Given the description of an element on the screen output the (x, y) to click on. 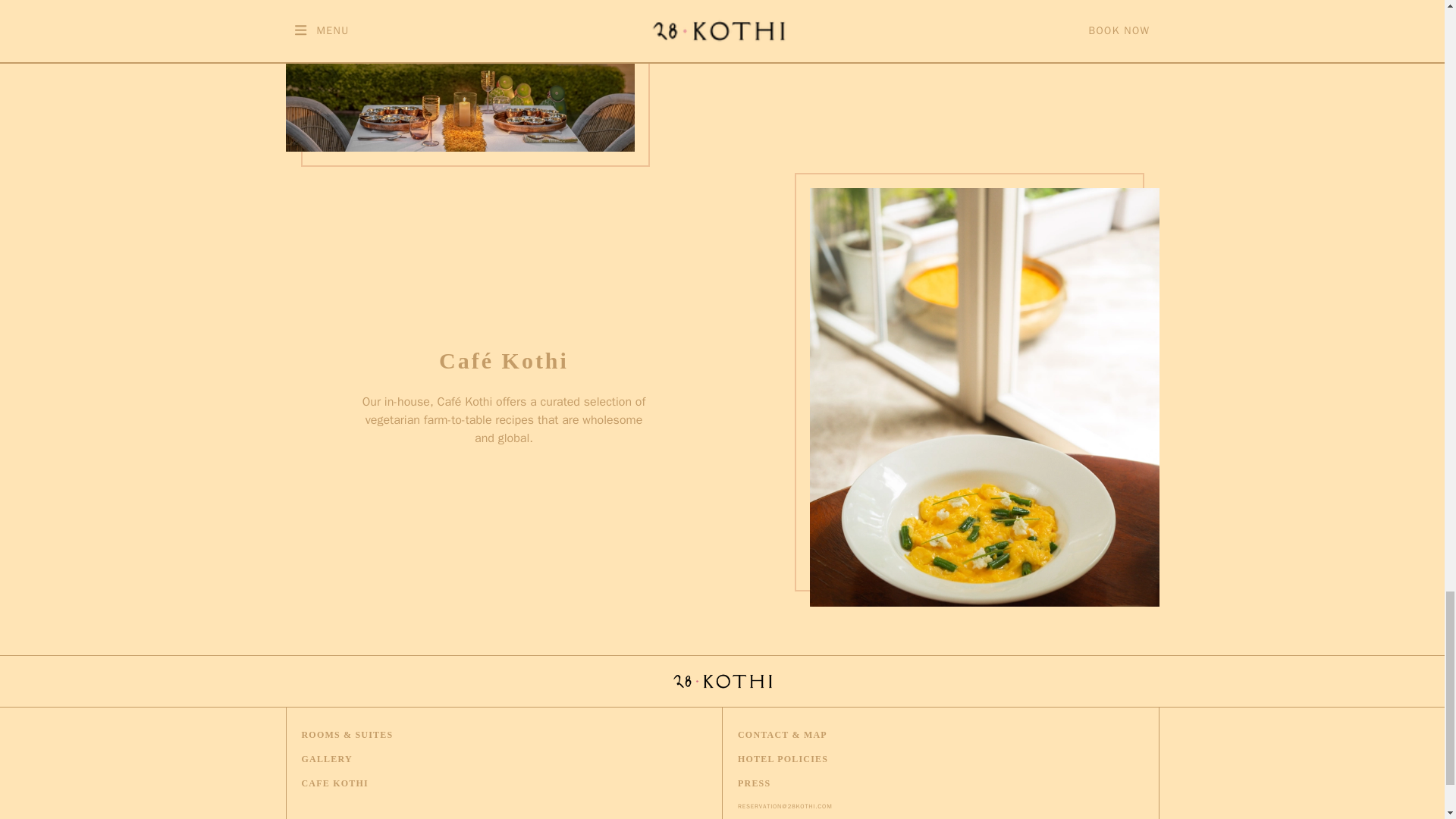
GALLERY (326, 758)
HOTEL POLICIES (783, 758)
CAFE KOTHI (334, 783)
PRESS (754, 783)
